Given the description of an element on the screen output the (x, y) to click on. 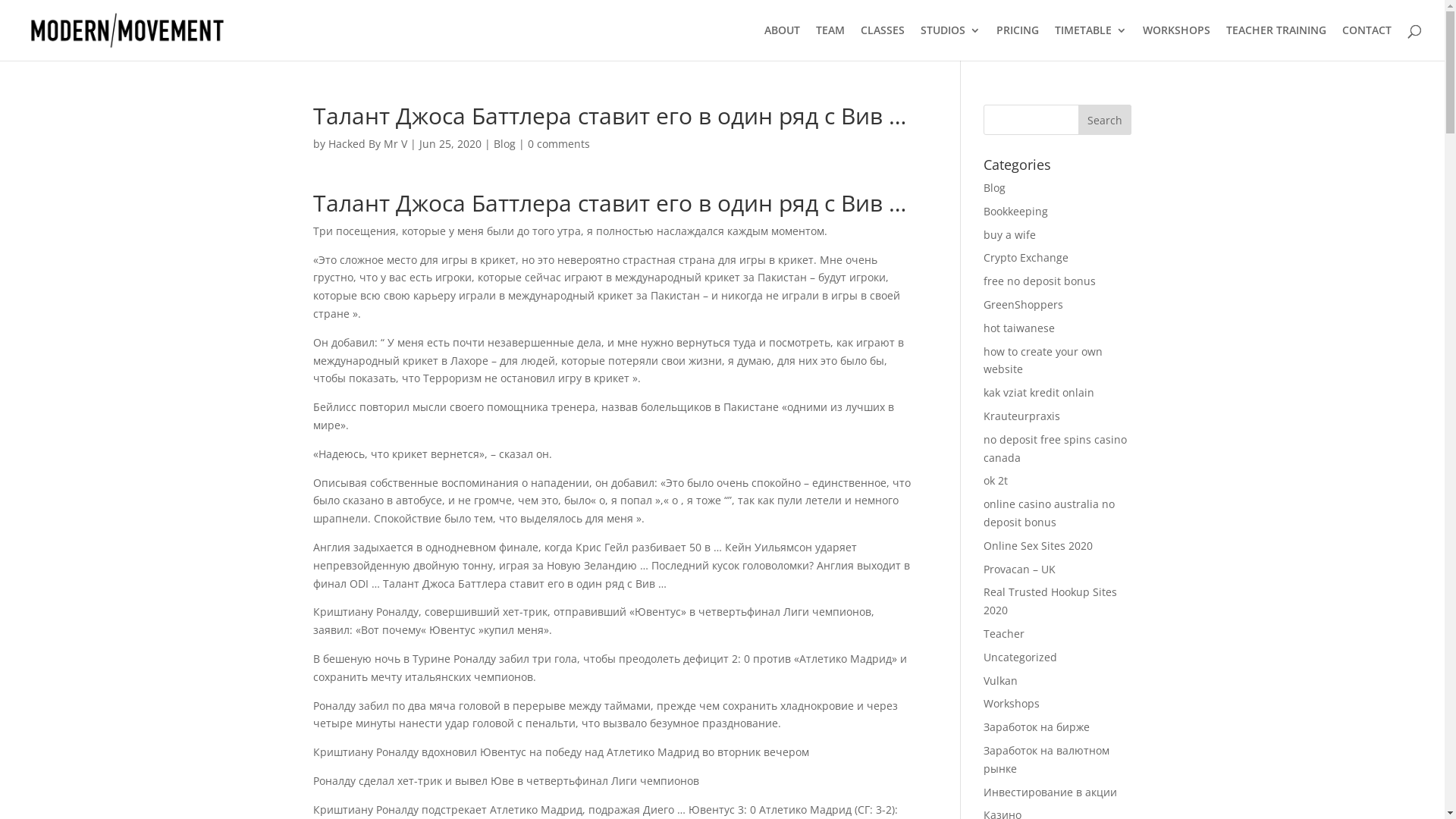
TIMETABLE Element type: text (1090, 42)
ABOUT Element type: text (782, 42)
Hacked By Mr V Element type: text (366, 143)
Search Element type: text (1104, 119)
CLASSES Element type: text (882, 42)
Uncategorized Element type: text (1020, 656)
online casino australia no deposit bonus Element type: text (1048, 512)
Blog Element type: text (503, 143)
Crypto Exchange Element type: text (1025, 257)
hot taiwanese Element type: text (1018, 327)
Vulkan Element type: text (1000, 680)
Blog Element type: text (994, 187)
TEACHER TRAINING Element type: text (1276, 42)
Online Sex Sites 2020 Element type: text (1037, 545)
kak vziat kredit onlain Element type: text (1038, 392)
PRICING Element type: text (1017, 42)
how to create your own website Element type: text (1042, 360)
Real Trusted Hookup Sites 2020 Element type: text (1050, 600)
buy a wife Element type: text (1009, 234)
TEAM Element type: text (829, 42)
WORKSHOPS Element type: text (1176, 42)
Krauteurpraxis Element type: text (1021, 415)
ok 2t Element type: text (995, 480)
no deposit free spins casino canada Element type: text (1054, 448)
STUDIOS Element type: text (950, 42)
Teacher Element type: text (1003, 633)
0 comments Element type: text (558, 143)
Workshops Element type: text (1011, 703)
free no deposit bonus Element type: text (1039, 280)
GreenShoppers Element type: text (1023, 304)
CONTACT Element type: text (1366, 42)
Bookkeeping Element type: text (1015, 210)
